Given the description of an element on the screen output the (x, y) to click on. 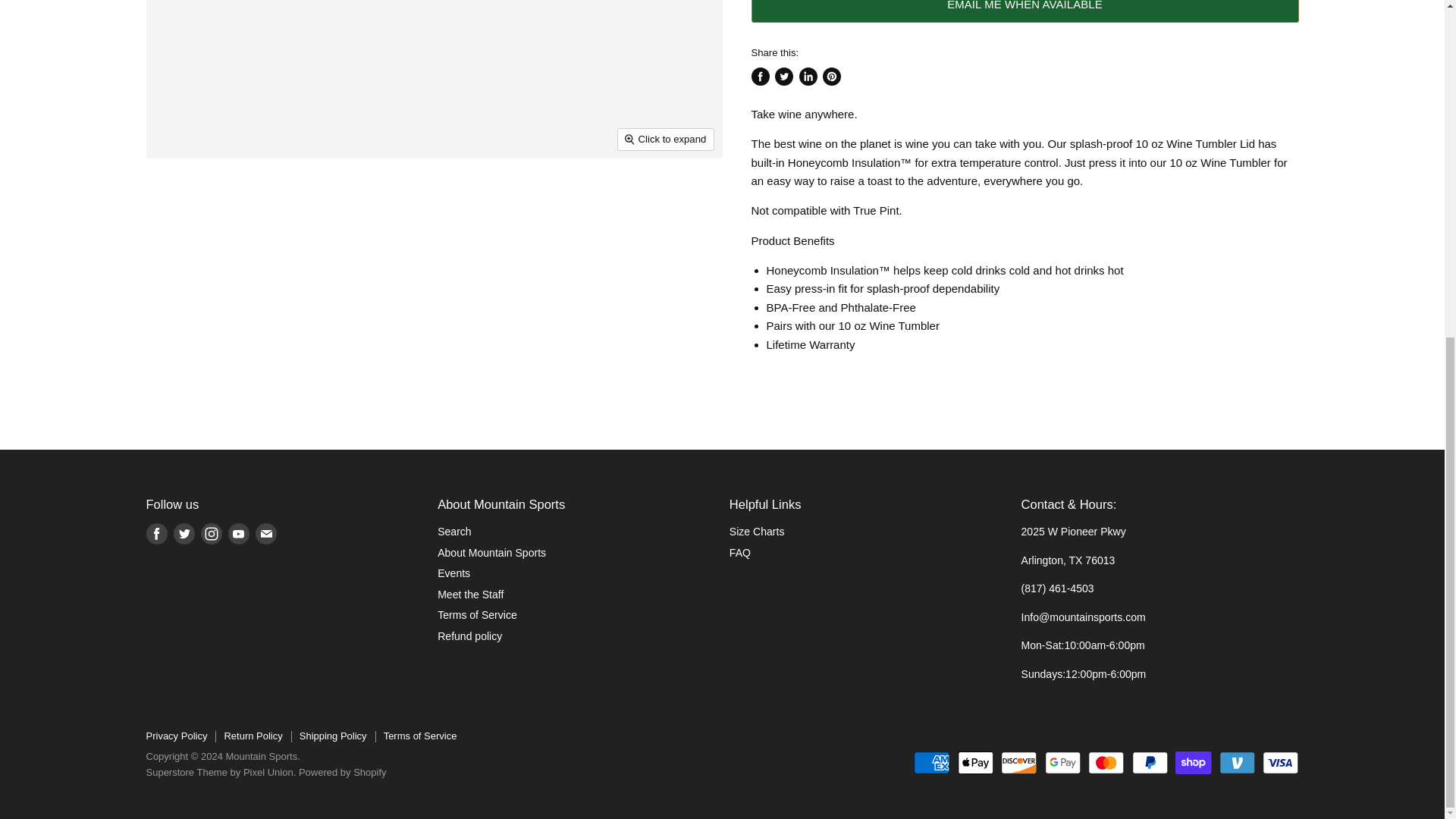
Youtube (237, 533)
Twitter (183, 533)
Facebook (156, 533)
E-mail (265, 533)
Instagram (210, 533)
